Given the description of an element on the screen output the (x, y) to click on. 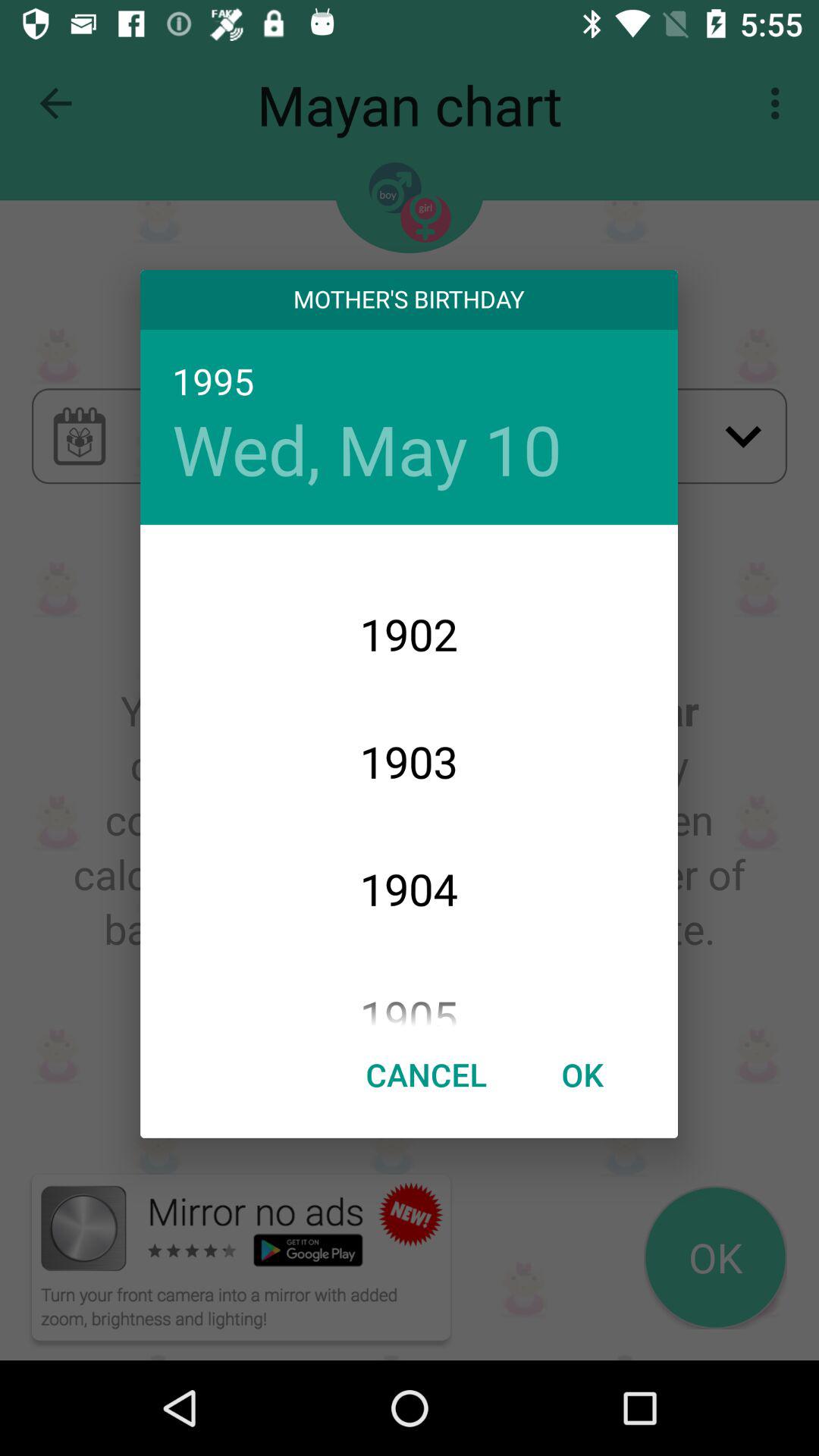
select the ok item (582, 1074)
